Given the description of an element on the screen output the (x, y) to click on. 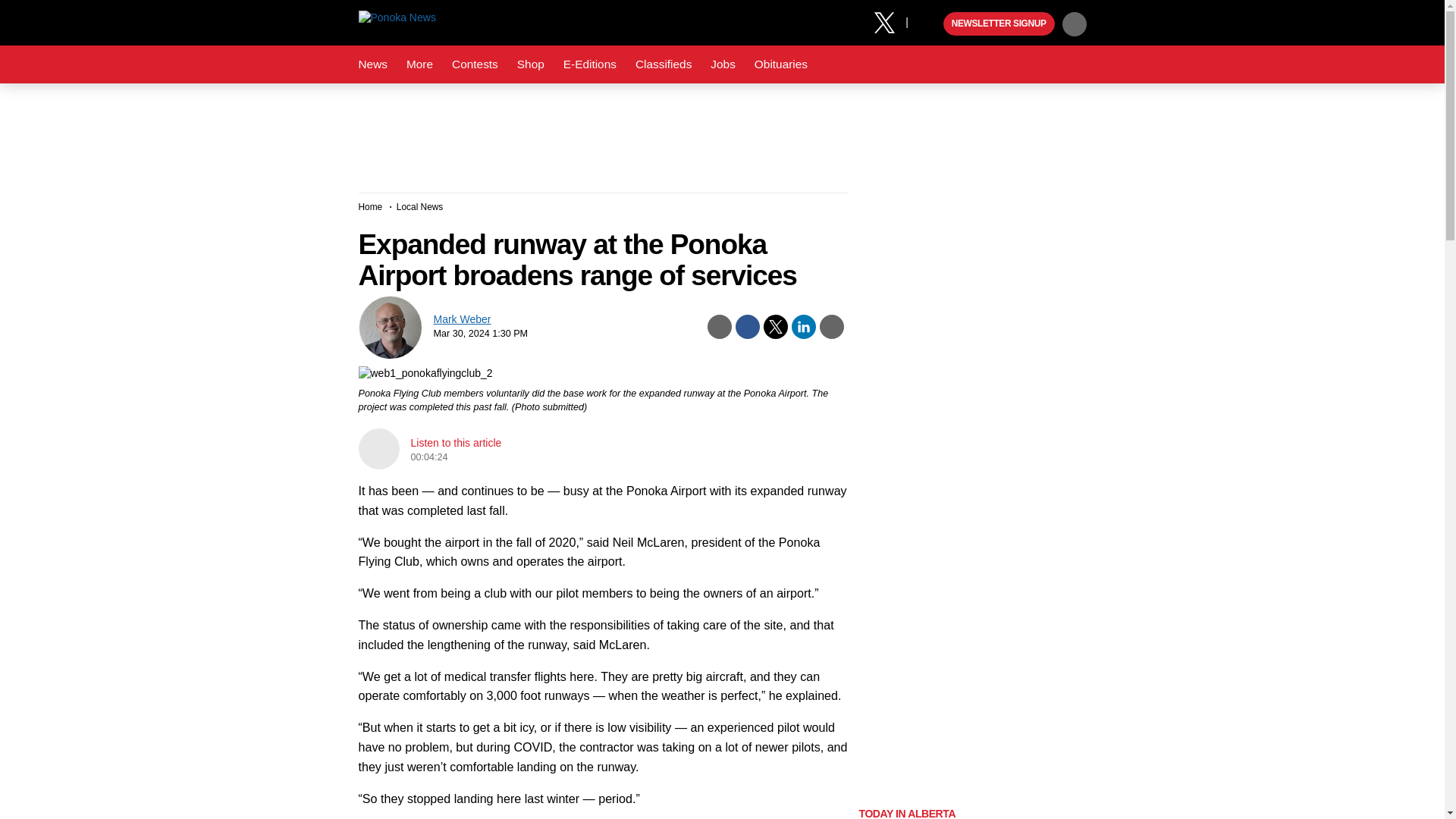
NEWSLETTER SIGNUP (998, 24)
Black Press Media (929, 24)
X (889, 21)
Play (929, 24)
News (372, 64)
